Given the description of an element on the screen output the (x, y) to click on. 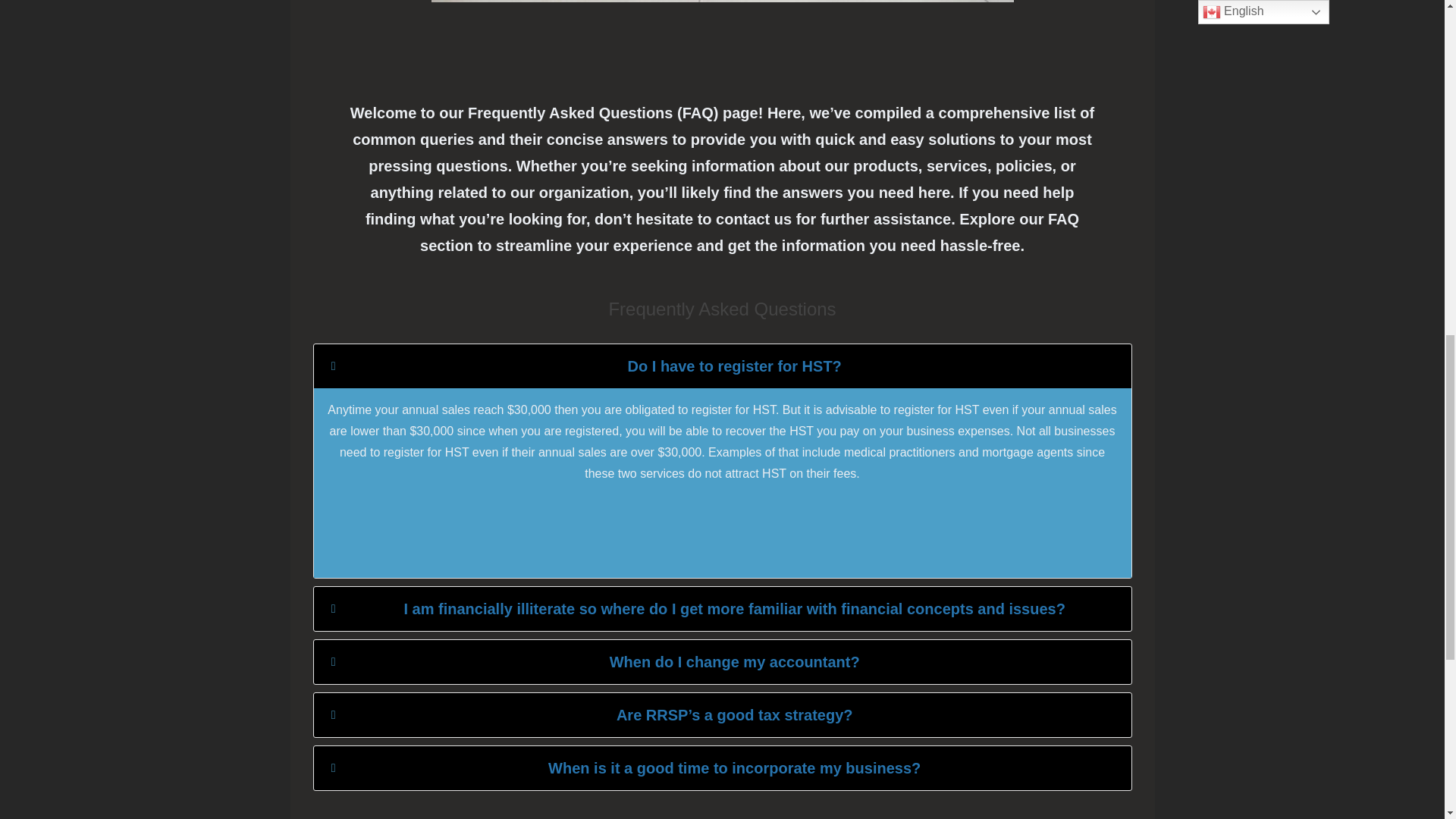
Do I have to register for HST? (722, 365)
When is it a good time to incorporate my business? (722, 768)
When do I change my accountant? (722, 661)
